Given the description of an element on the screen output the (x, y) to click on. 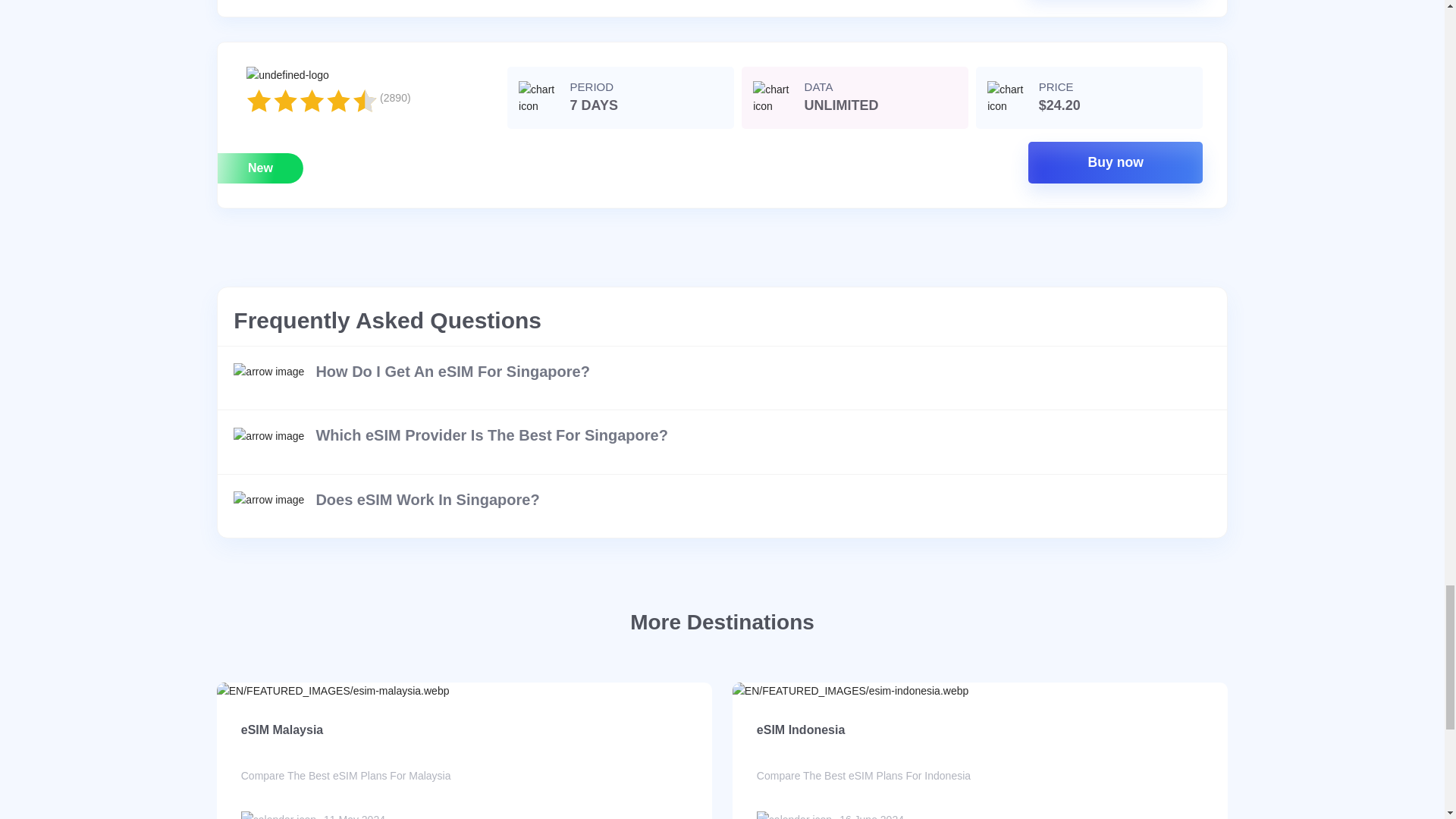
Buy now (1114, 162)
